Given the description of an element on the screen output the (x, y) to click on. 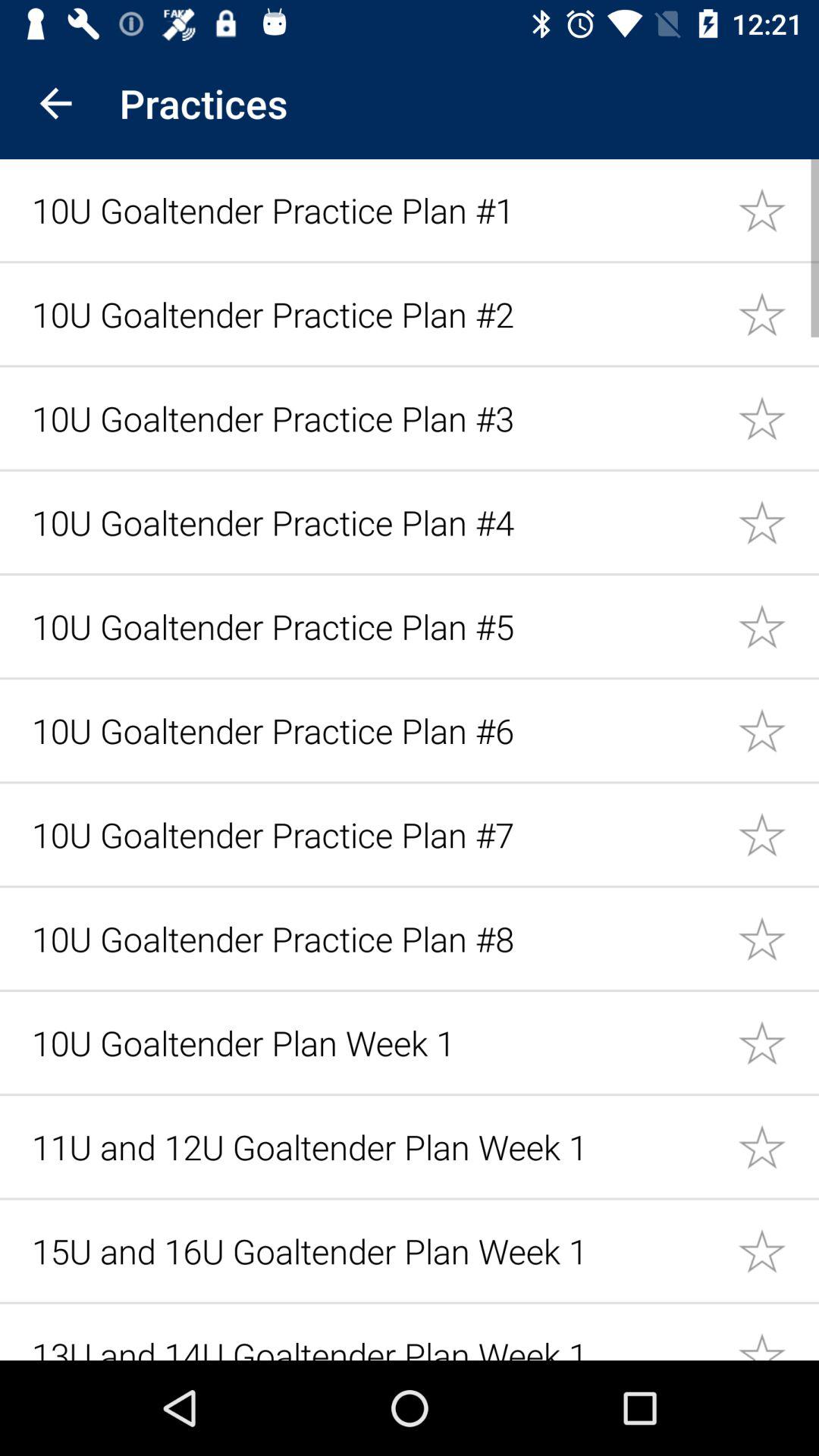
select 11u and 12u golatender plan week 1 (778, 1146)
